Given the description of an element on the screen output the (x, y) to click on. 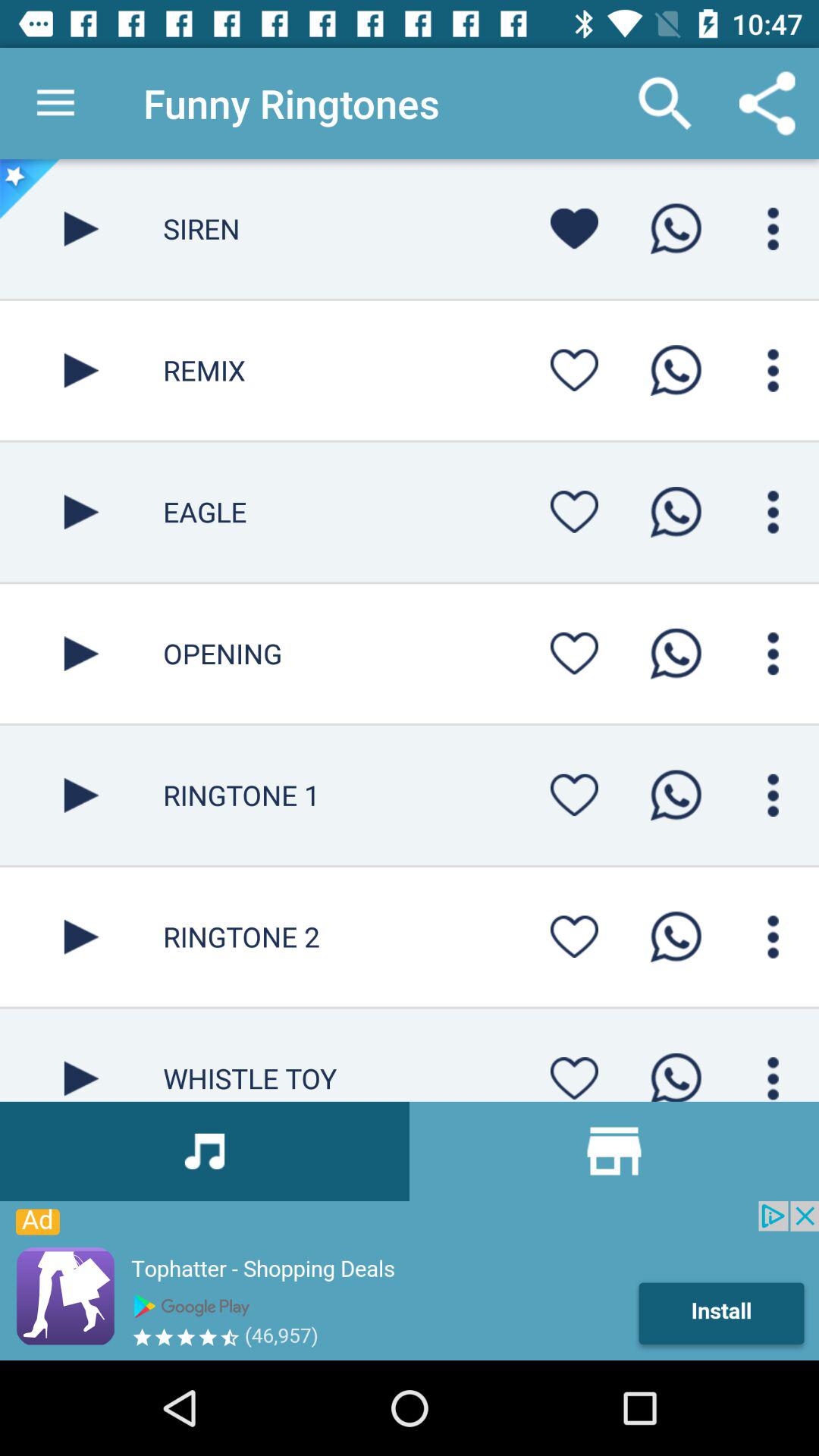
heart whistle toy rington (574, 1074)
